Given the description of an element on the screen output the (x, y) to click on. 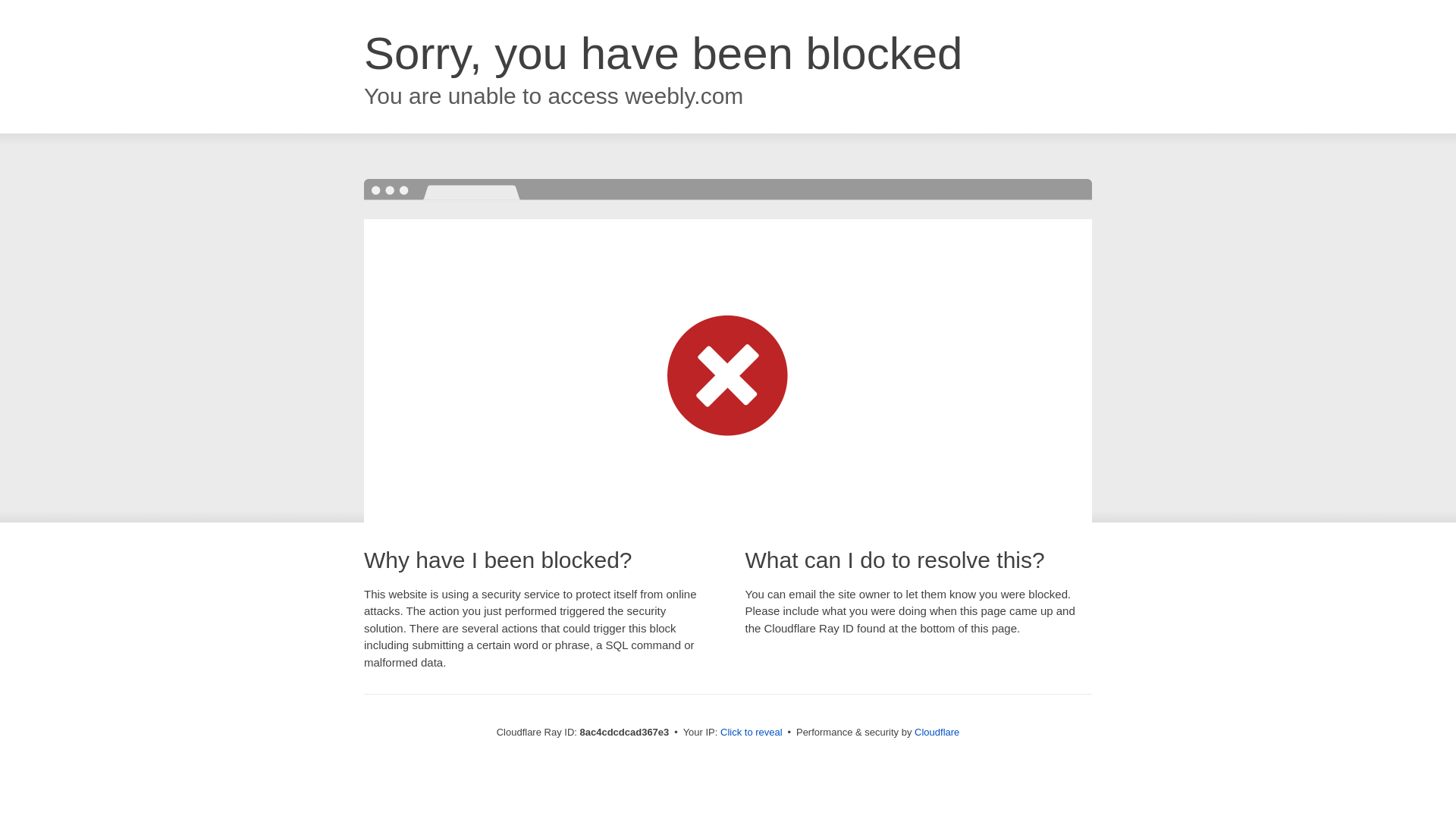
Click to reveal (751, 732)
Cloudflare (936, 731)
